Given the description of an element on the screen output the (x, y) to click on. 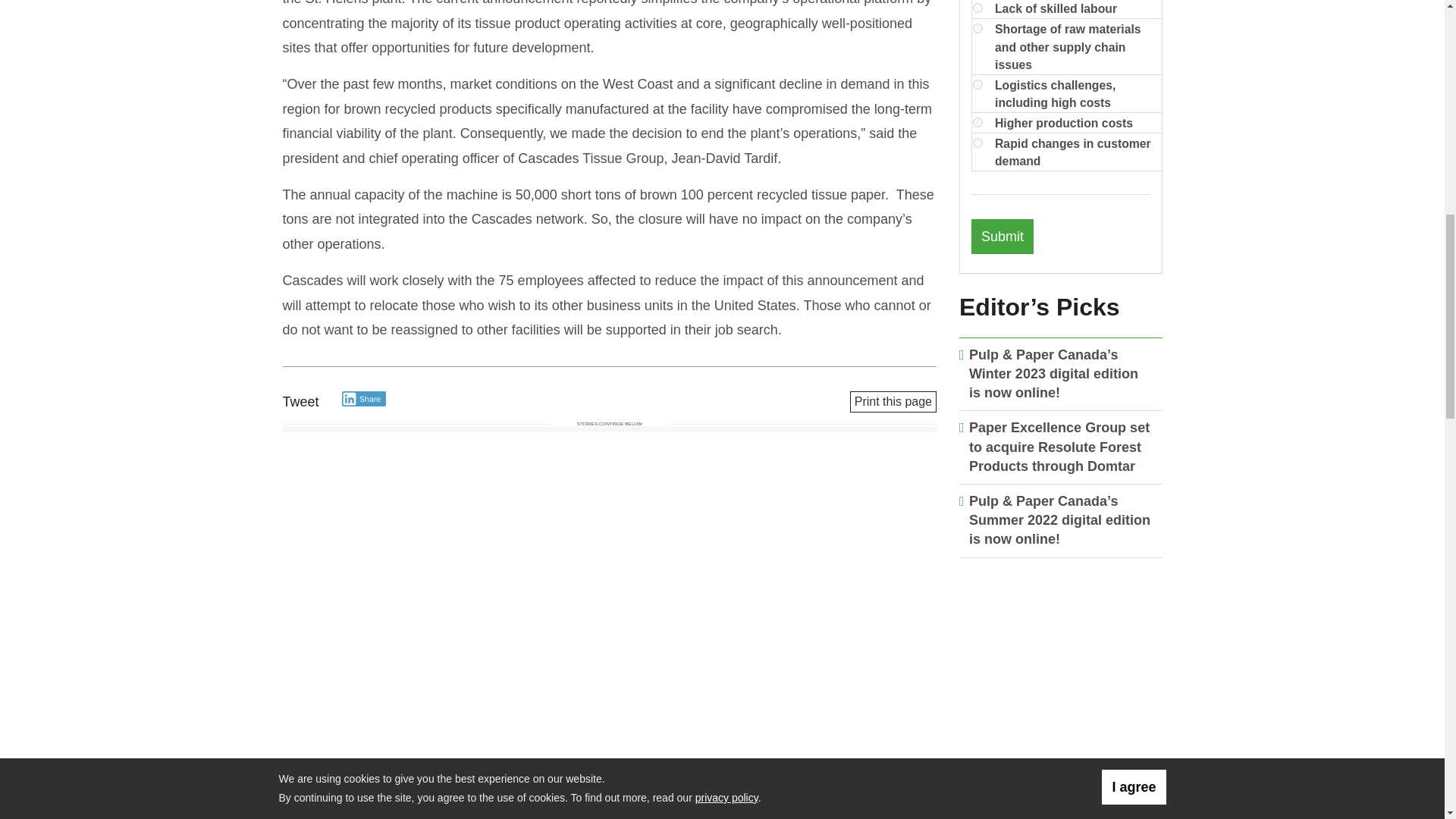
Submit (1002, 236)
gpoll14aa2f88e (977, 8)
gpoll1174047cc (977, 84)
gpoll139686856 (977, 28)
gpoll1db2c9877 (977, 122)
3rd party ad content (1060, 667)
gpoll19b437764 (977, 143)
